Given the description of an element on the screen output the (x, y) to click on. 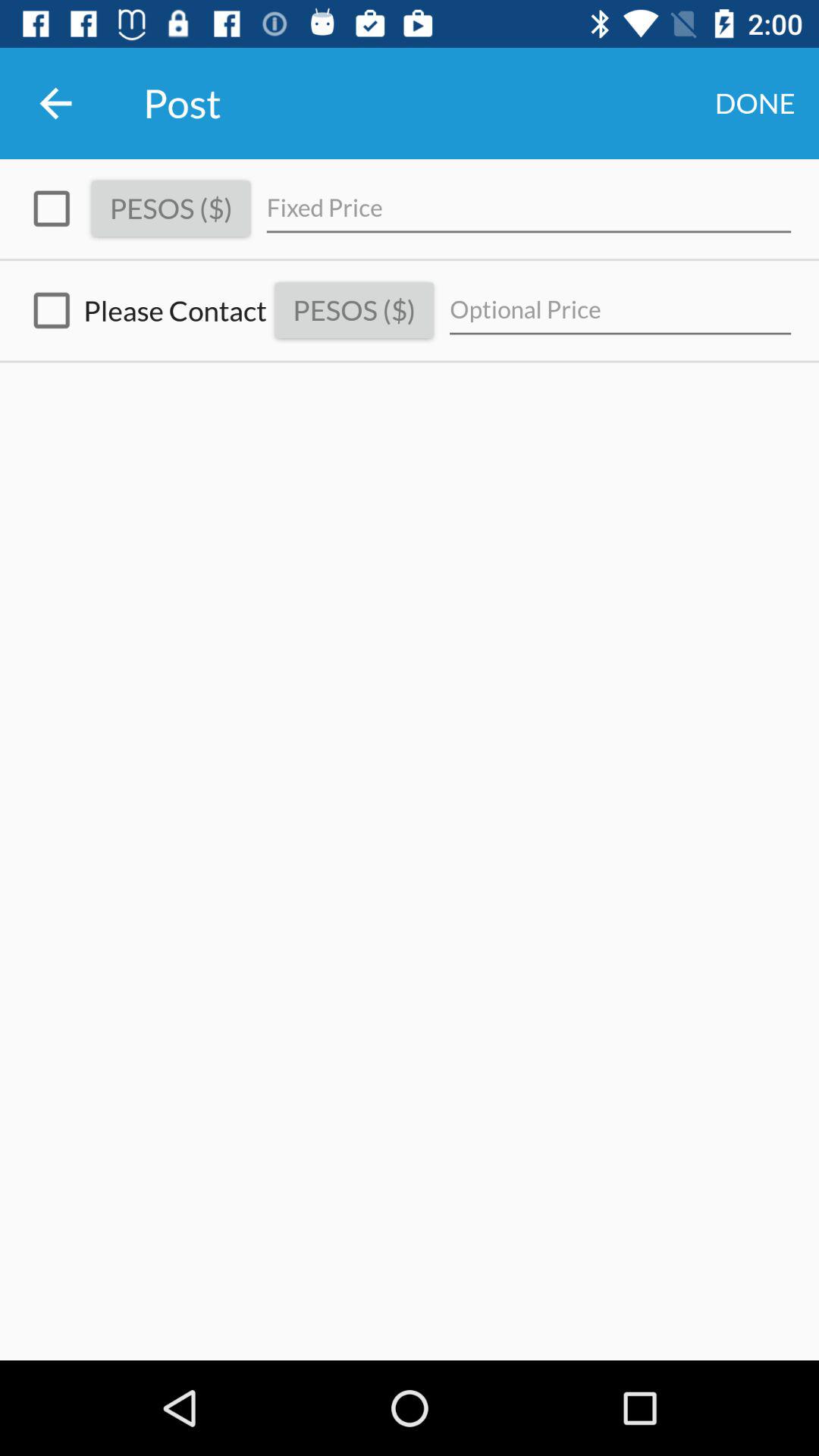
choose to enter price (51, 208)
